Given the description of an element on the screen output the (x, y) to click on. 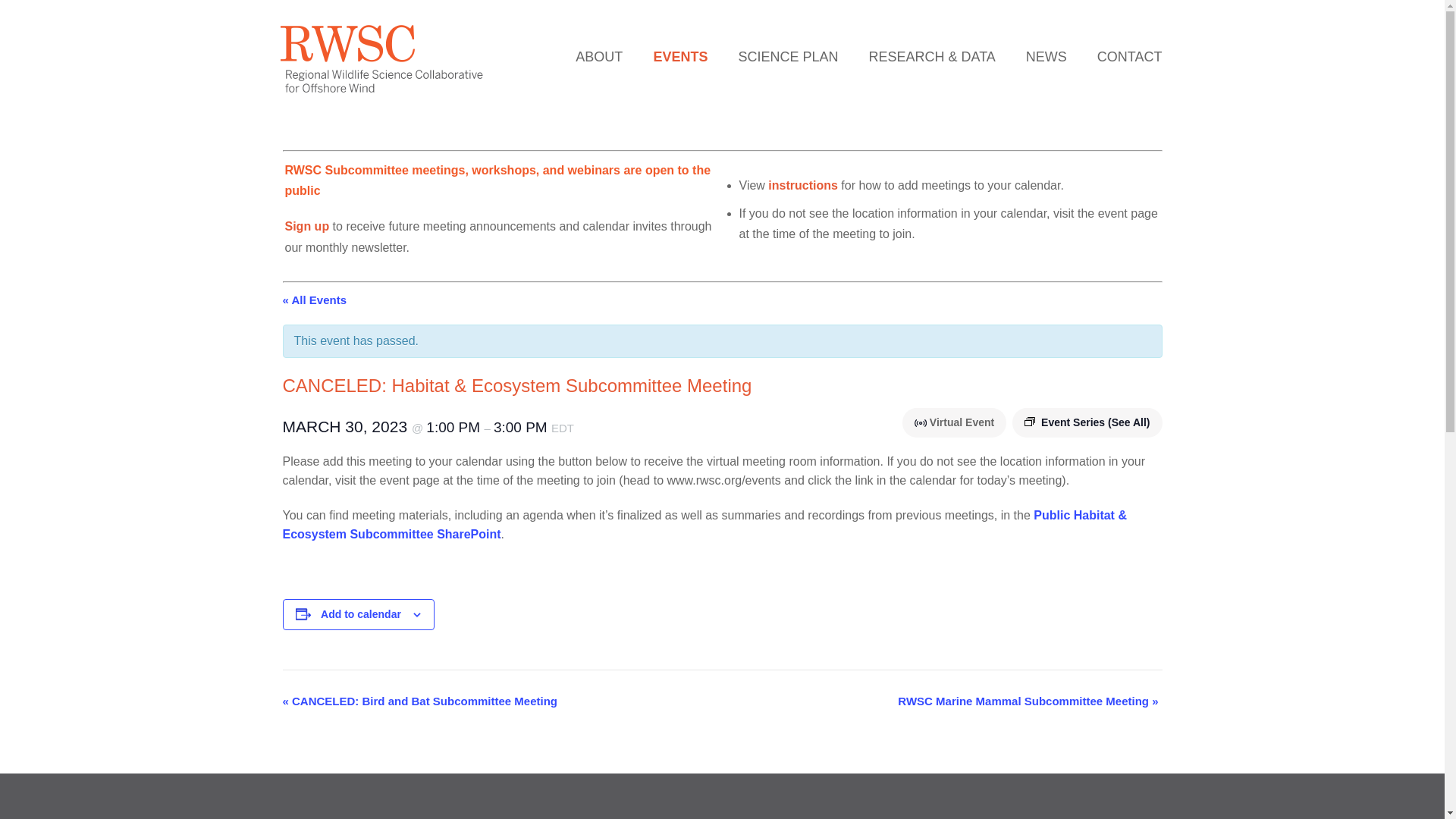
Sign up (307, 226)
NEWS (1046, 56)
Virtual Event (920, 422)
CONTACT (1129, 56)
EVENTS (679, 56)
Virtual Event (922, 422)
instructions (803, 185)
SCIENCE PLAN (788, 56)
Add to calendar (360, 613)
Event Series (1030, 420)
ABOUT (599, 56)
